Given the description of an element on the screen output the (x, y) to click on. 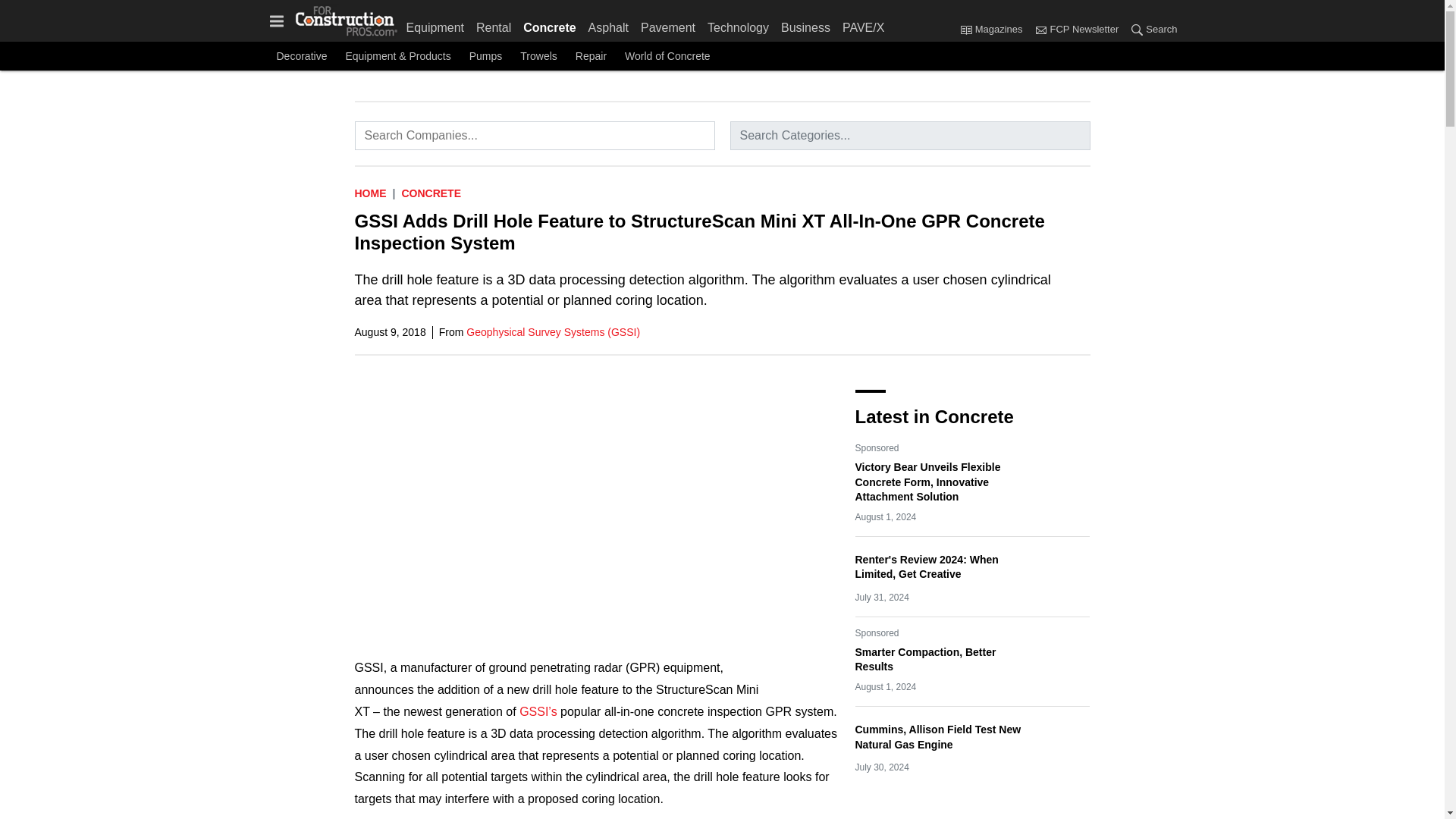
FCP Newsletter (1075, 29)
Concrete (431, 193)
Magazines (994, 29)
Sponsored (877, 632)
World of Concrete (667, 55)
Asphalt (608, 24)
Pumps (485, 55)
Home (371, 193)
Equipment (438, 24)
Business (804, 24)
Sponsored (877, 447)
Magazines (965, 29)
Pavement (667, 24)
Technology (737, 24)
Search (1150, 29)
